Given the description of an element on the screen output the (x, y) to click on. 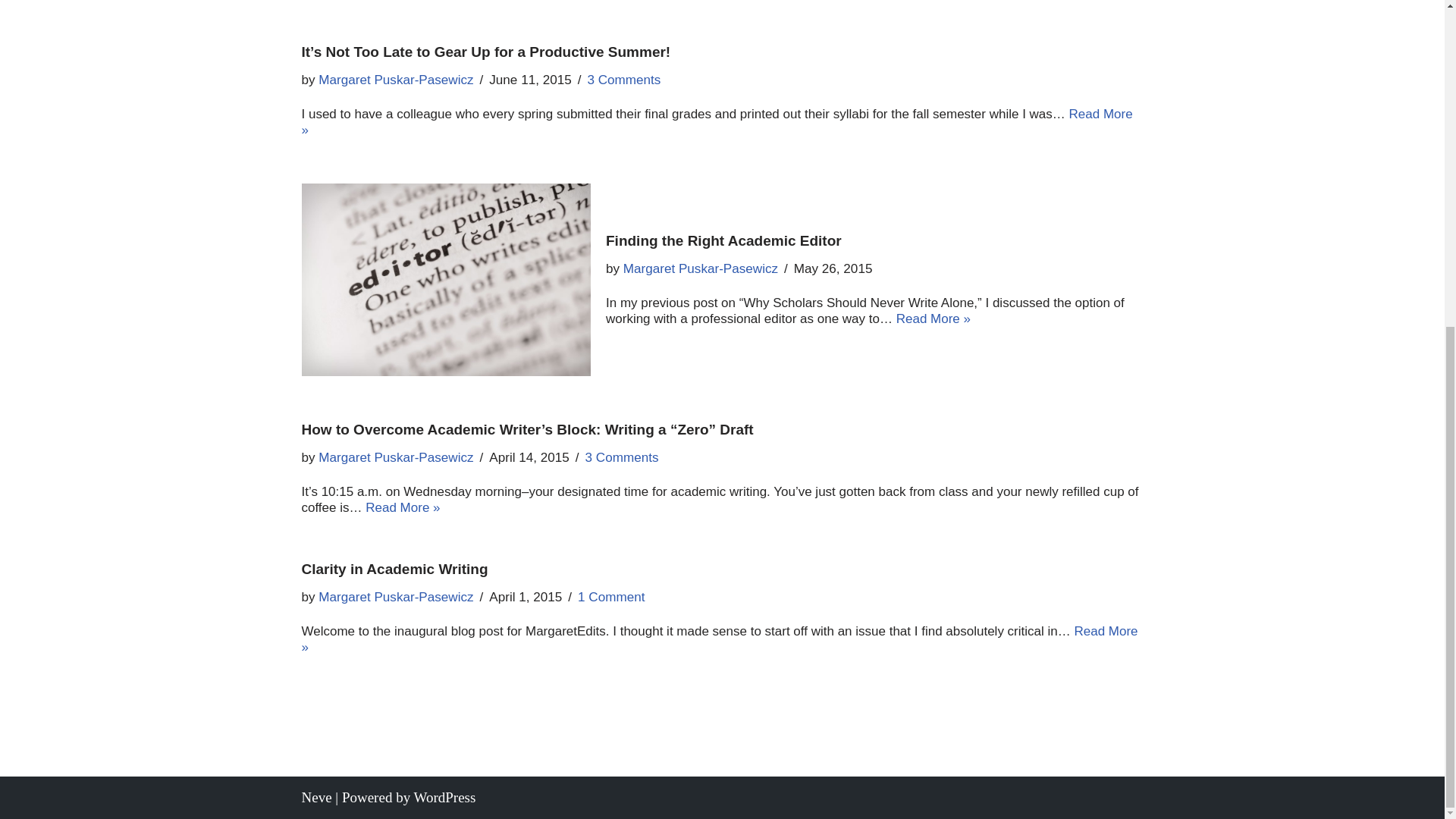
Margaret Puskar-Pasewicz (395, 79)
Margaret Puskar-Pasewicz (395, 596)
1 Comment (611, 596)
Finding the Right Academic Editor (446, 279)
Margaret Puskar-Pasewicz (395, 457)
Posts by Margaret Puskar-Pasewicz (395, 79)
3 Comments (623, 79)
Clarity in Academic Writing (394, 569)
Posts by Margaret Puskar-Pasewicz (395, 596)
Margaret Puskar-Pasewicz (700, 268)
Posts by Margaret Puskar-Pasewicz (700, 268)
Neve (316, 797)
3 Comments (622, 457)
Finding the Right Academic Editor (723, 240)
Posts by Margaret Puskar-Pasewicz (395, 457)
